Given the description of an element on the screen output the (x, y) to click on. 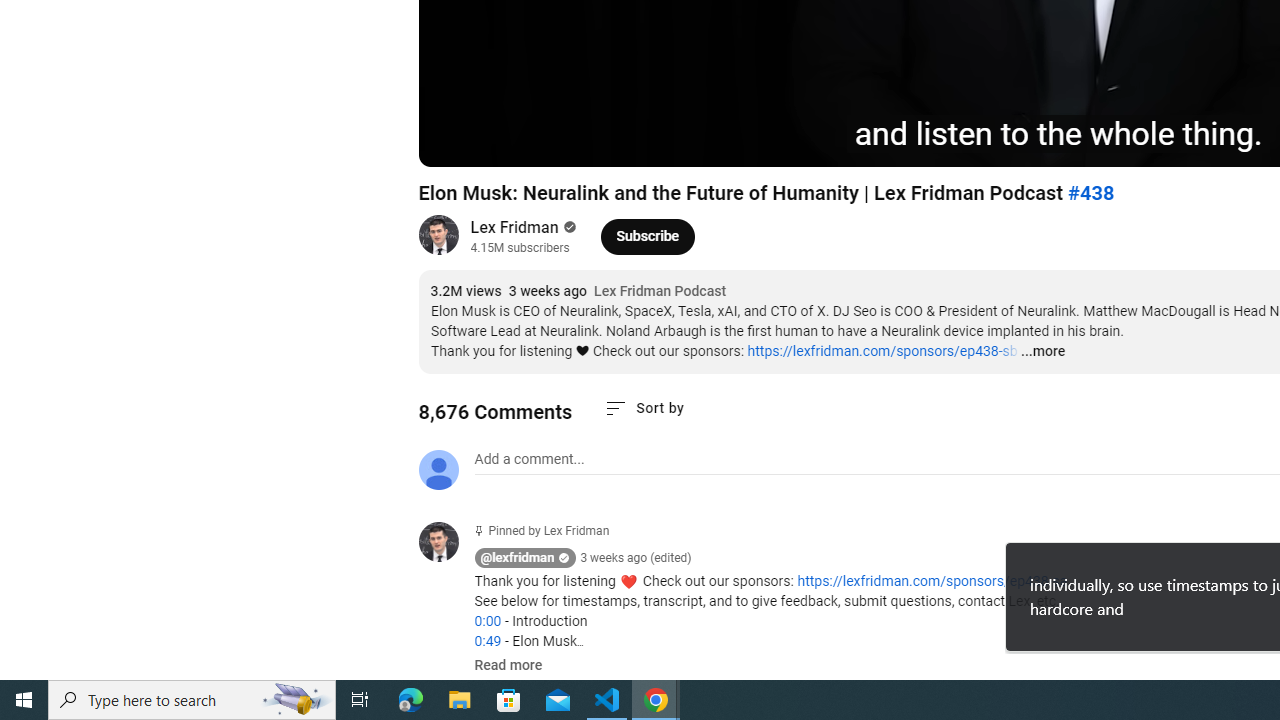
AutomationID: simplebox-placeholder (528, 459)
Introduction (713, 142)
Sort comments (644, 408)
Lex Fridman Podcast (660, 291)
Lex Fridman (514, 227)
https://lexfridman.com/sponsors/ep438-sb (882, 351)
0:00 (487, 621)
